Given the description of an element on the screen output the (x, y) to click on. 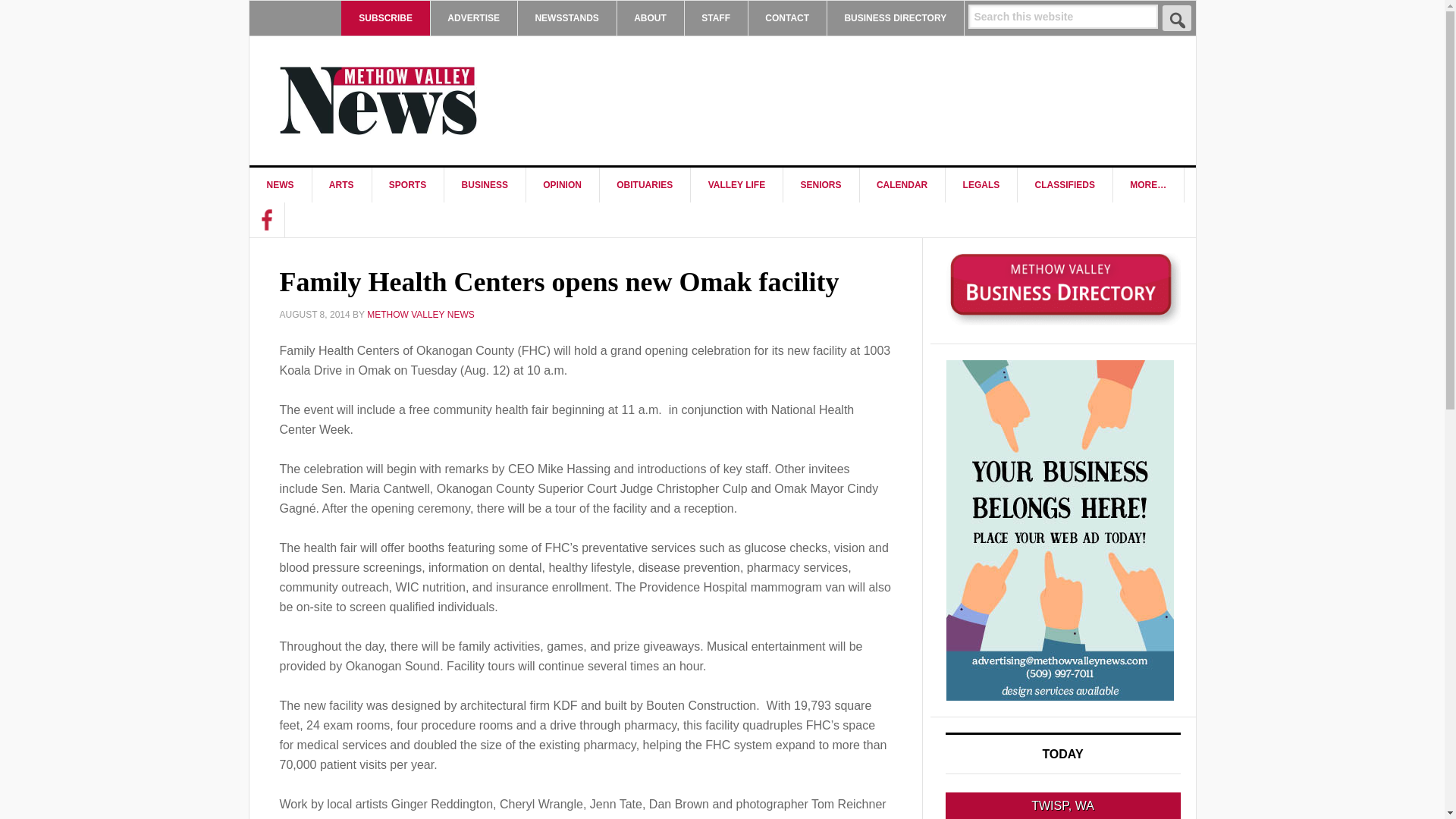
OBITUARIES (644, 184)
SENIORS (821, 184)
ABOUT (649, 18)
BUSINESS (484, 184)
SPORTS (407, 184)
BUSINESS DIRECTORY (895, 18)
LEGALS (980, 184)
STAFF (716, 18)
SUBSCRIBE (385, 18)
